Given the description of an element on the screen output the (x, y) to click on. 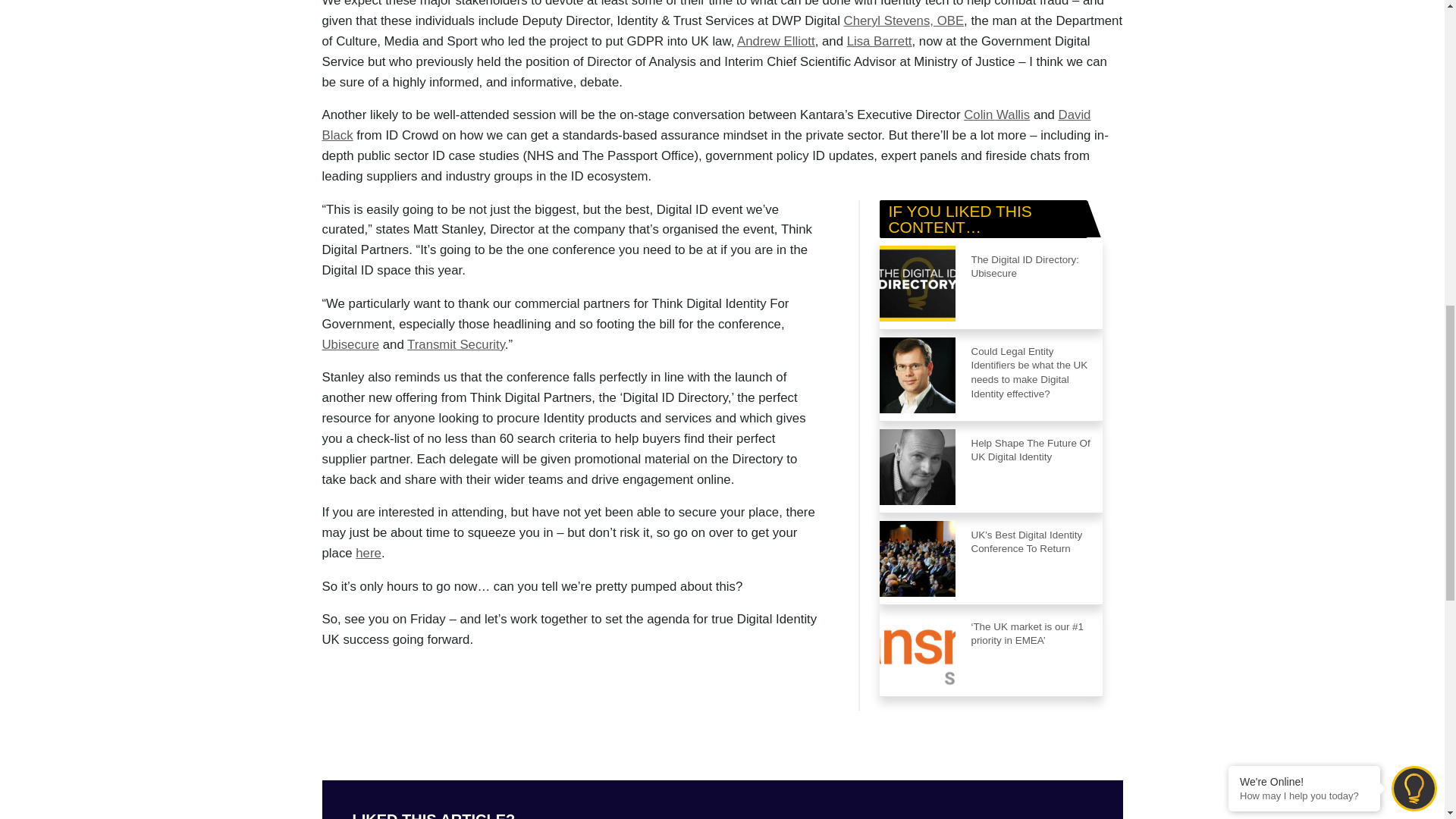
Andrew Elliott (775, 41)
Cheryl Stevens, OBE (903, 20)
Help Shape The Future Of UK Digital Identity (1032, 467)
David Black (705, 124)
Colin Wallis (996, 114)
The Digital ID Directory: Ubisecure (1032, 283)
Lisa Barrett (879, 41)
